Given the description of an element on the screen output the (x, y) to click on. 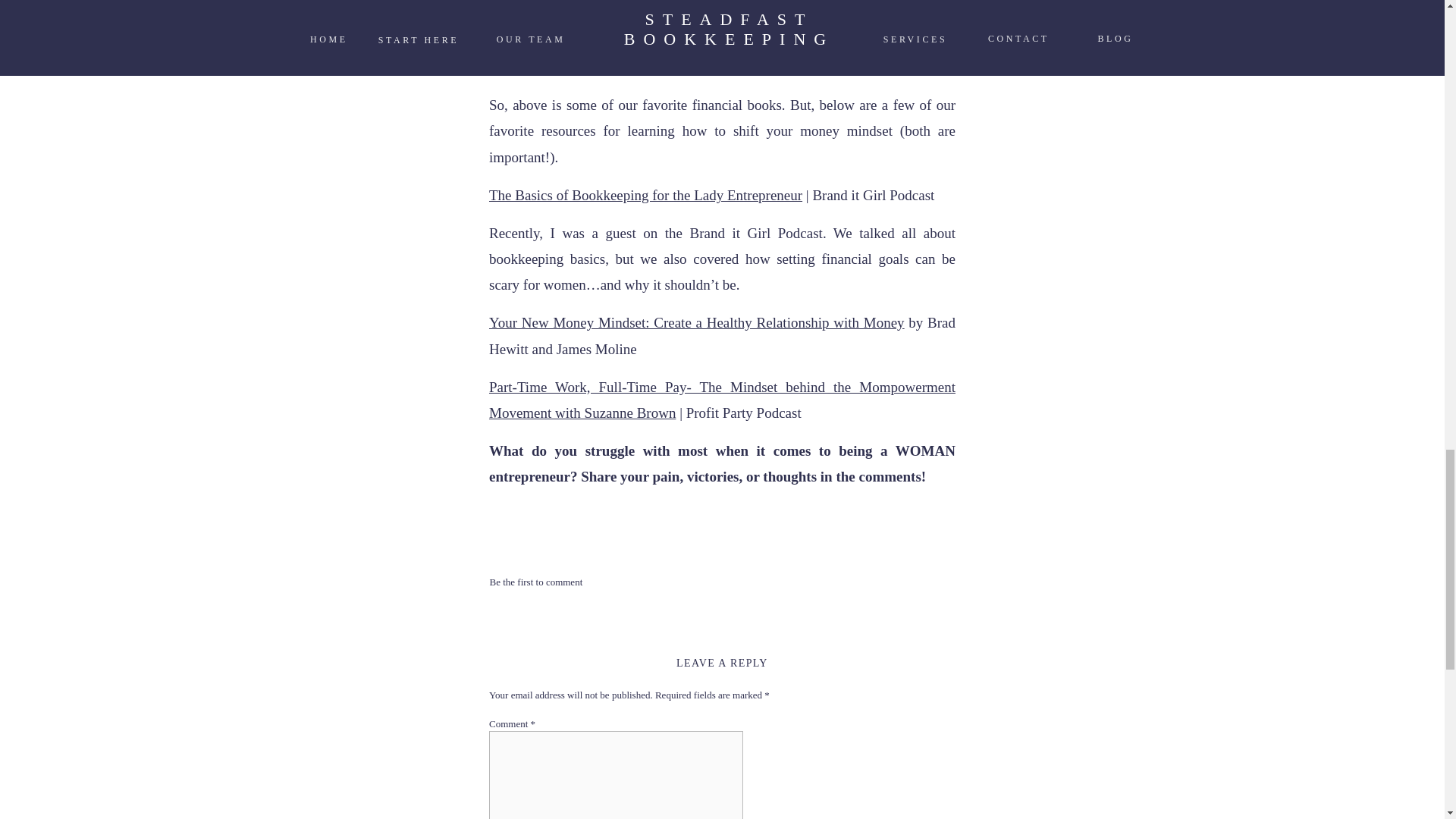
Be the first to comment (536, 582)
The Basics of Bookkeeping for the Lady Entrepreneur (645, 195)
